Given the description of an element on the screen output the (x, y) to click on. 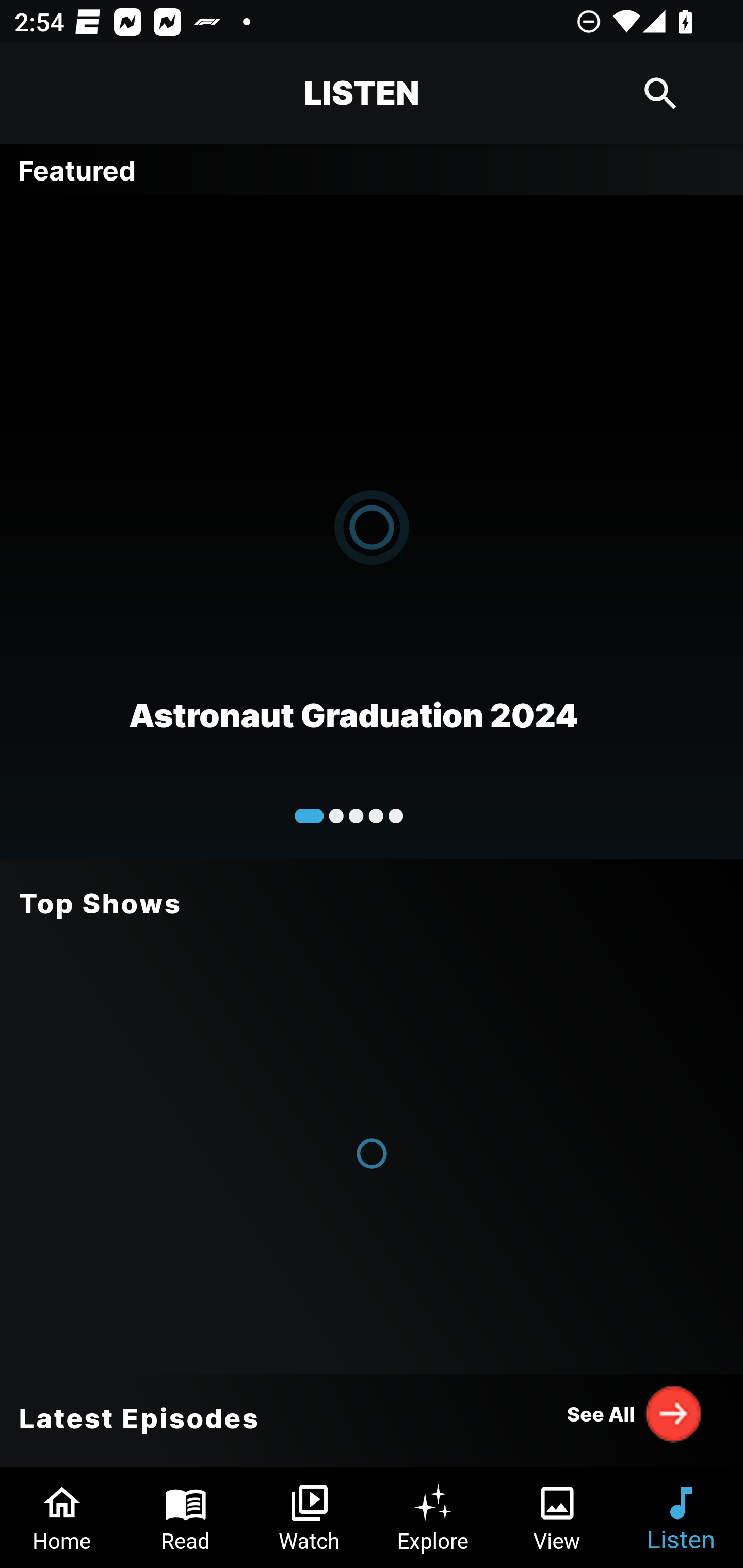
Astronaut Graduation 2024 (371, 526)
See All (634, 1413)
Home
Tab 1 of 6 (62, 1517)
Read
Tab 2 of 6 (185, 1517)
Watch
Tab 3 of 6 (309, 1517)
Explore
Tab 4 of 6 (433, 1517)
View
Tab 5 of 6 (556, 1517)
Listen
Tab 6 of 6 (680, 1517)
